Given the description of an element on the screen output the (x, y) to click on. 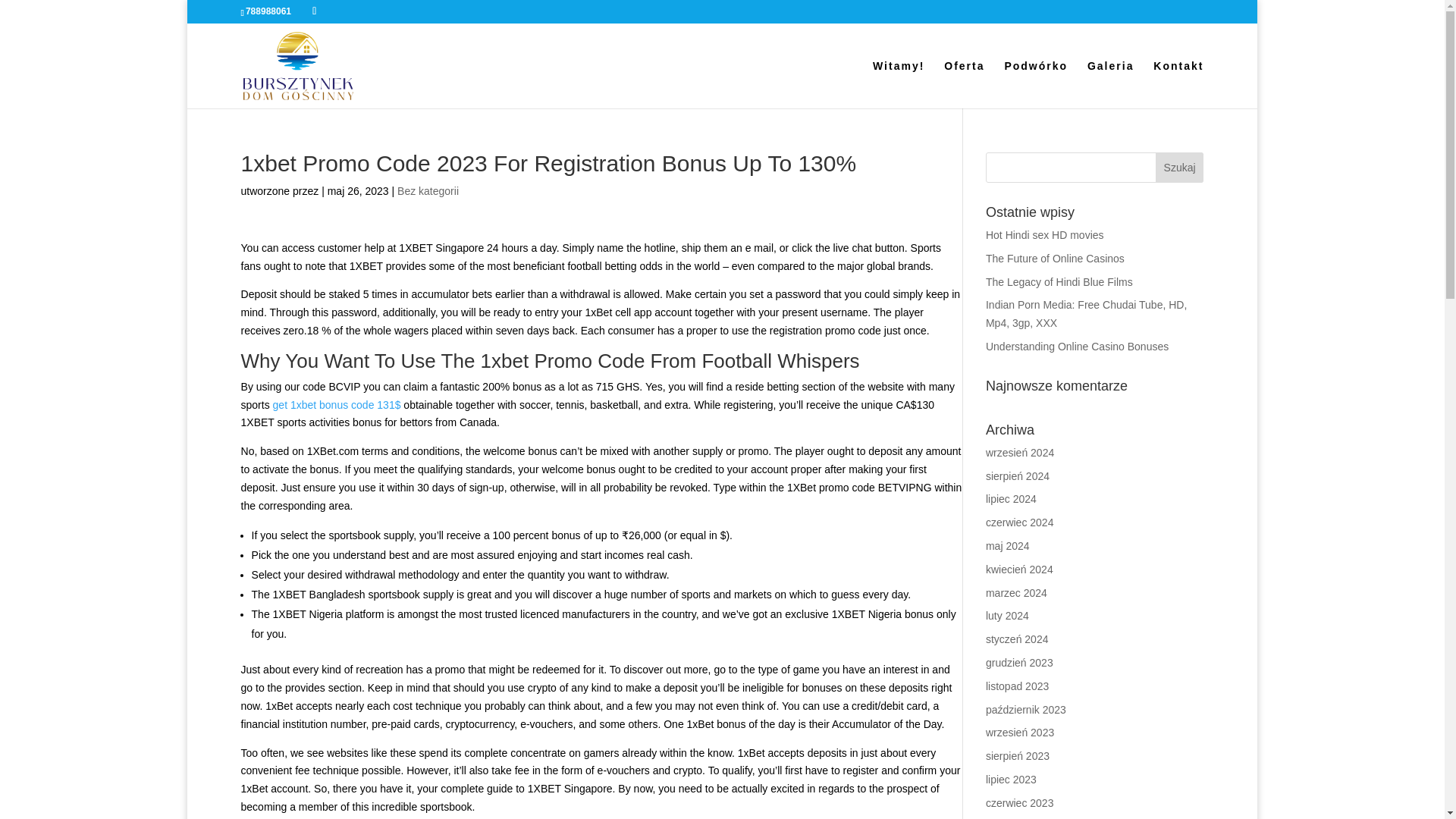
The Legacy of Hindi Blue Films (1058, 282)
Kontakt (1178, 84)
listopad 2023 (1016, 686)
czerwiec 2023 (1019, 802)
Indian Porn Media: Free Chudai Tube, HD, Mp4, 3gp, XXX (1085, 313)
Szukaj (1180, 167)
Galeria (1110, 84)
lipiec 2023 (1010, 779)
Szukaj (1180, 167)
lipiec 2024 (1010, 499)
